Given the description of an element on the screen output the (x, y) to click on. 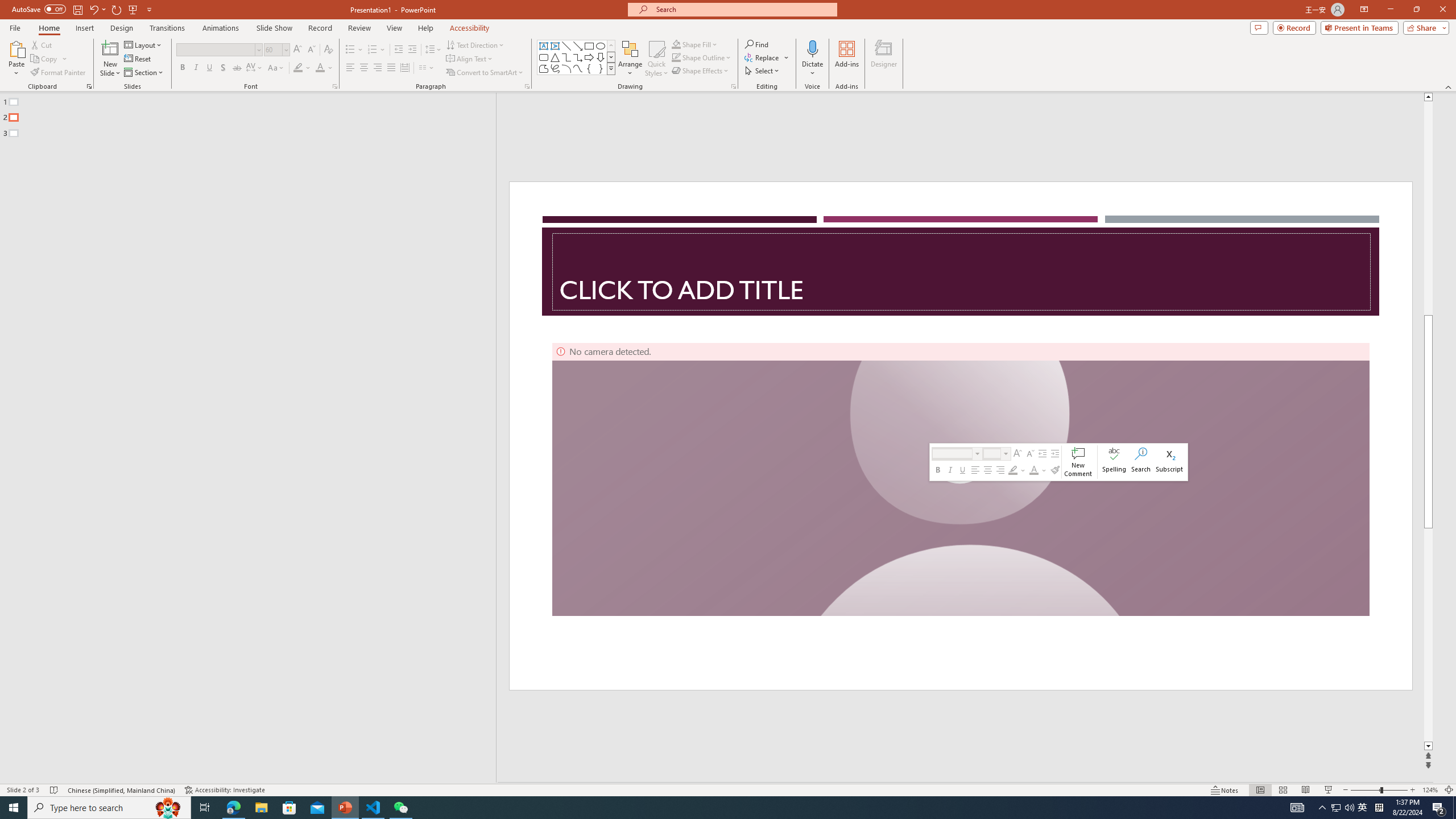
Reading View (1305, 790)
Underline (209, 67)
View (395, 28)
Paste (16, 48)
Normal (1260, 790)
Paragraph... (526, 85)
Right Brace (600, 68)
Find... (756, 44)
Numbering (372, 49)
Office Clipboard... (88, 85)
Character Spacing (254, 67)
From Beginning (133, 9)
Text Direction (476, 44)
Align Left (349, 67)
Class: NetUITextbox (991, 452)
